Given the description of an element on the screen output the (x, y) to click on. 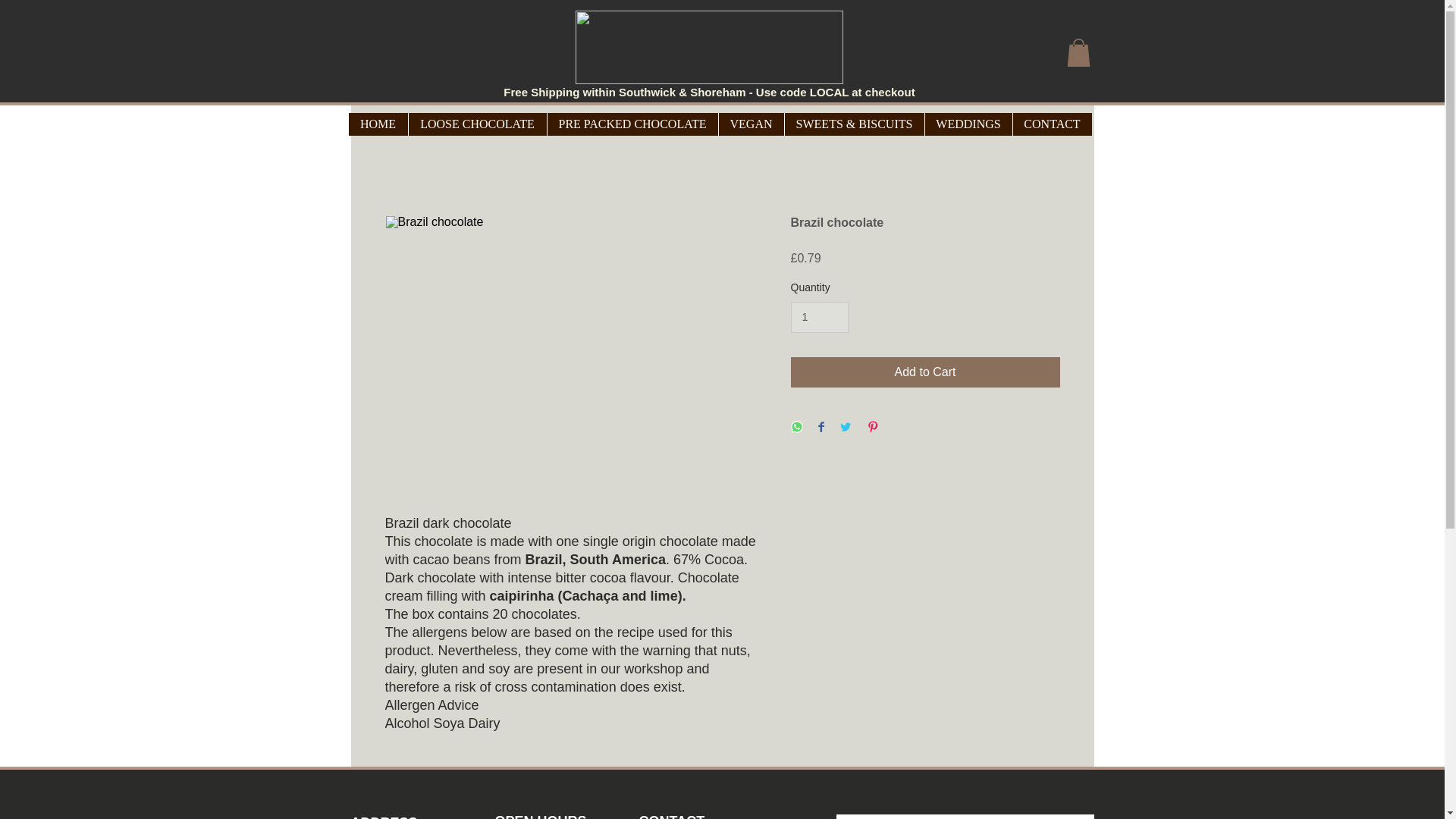
PRE PACKED CHOCOLATE (631, 124)
VEGAN (750, 124)
HOME (378, 124)
WEDDINGS (967, 124)
Add to Cart (924, 372)
Logo colour-b09785 low.png (709, 47)
LOOSE CHOCOLATE (477, 124)
CONTACT (1050, 124)
1 (818, 317)
